Given the description of an element on the screen output the (x, y) to click on. 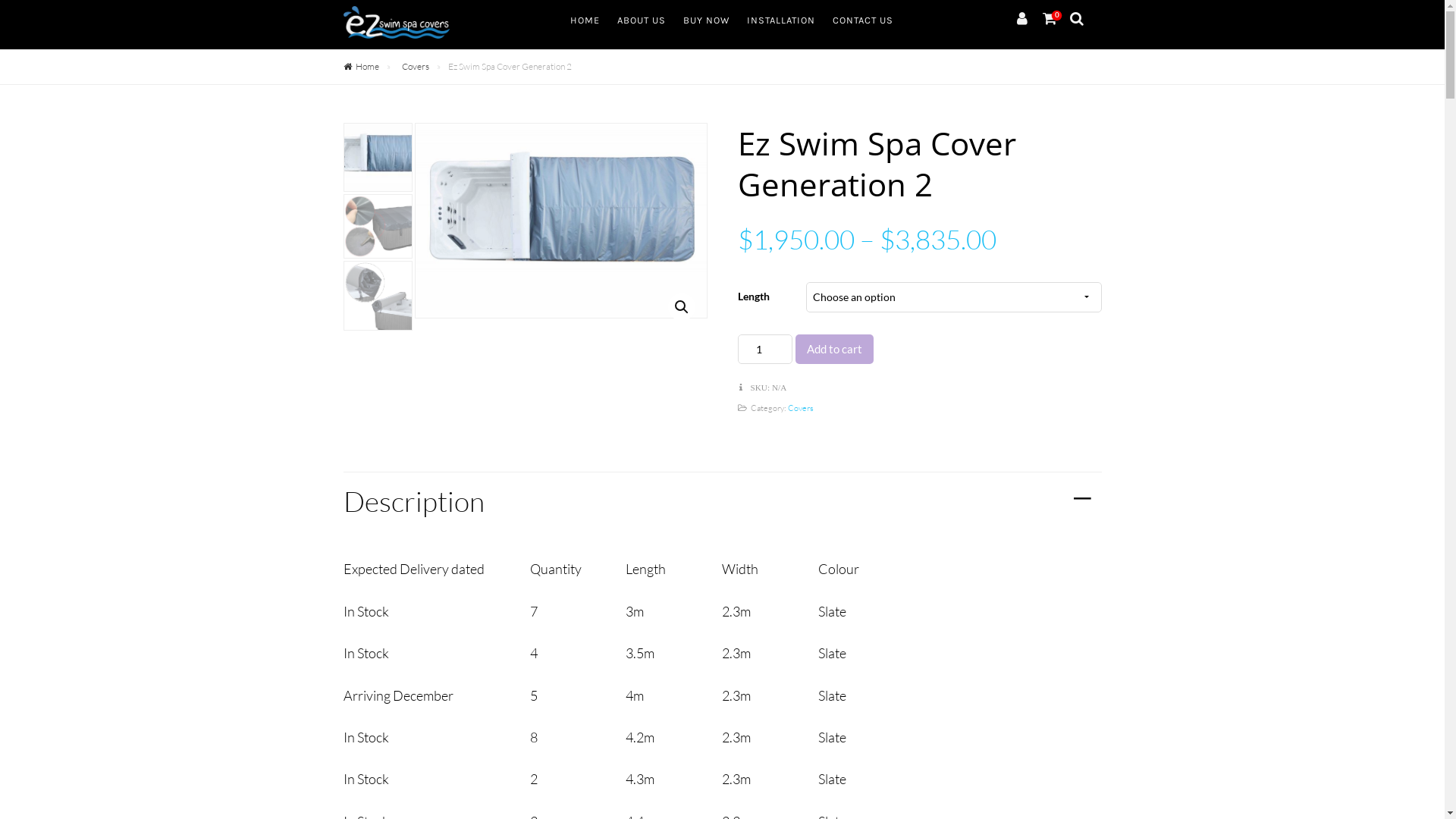
ABOUT US Element type: text (641, 20)
CONTACT US Element type: text (862, 20)
Add to cart Element type: text (834, 349)
cover-top-plan Element type: hover (560, 220)
HOME Element type: text (584, 20)
BUY NOW Element type: text (705, 20)
Covers Element type: text (415, 66)
Covers Element type: text (799, 407)
Home Element type: text (366, 66)
0 Element type: text (1049, 18)
INSTALLATION Element type: text (780, 20)
201806251352542244964 Element type: hover (851, 259)
